Given the description of an element on the screen output the (x, y) to click on. 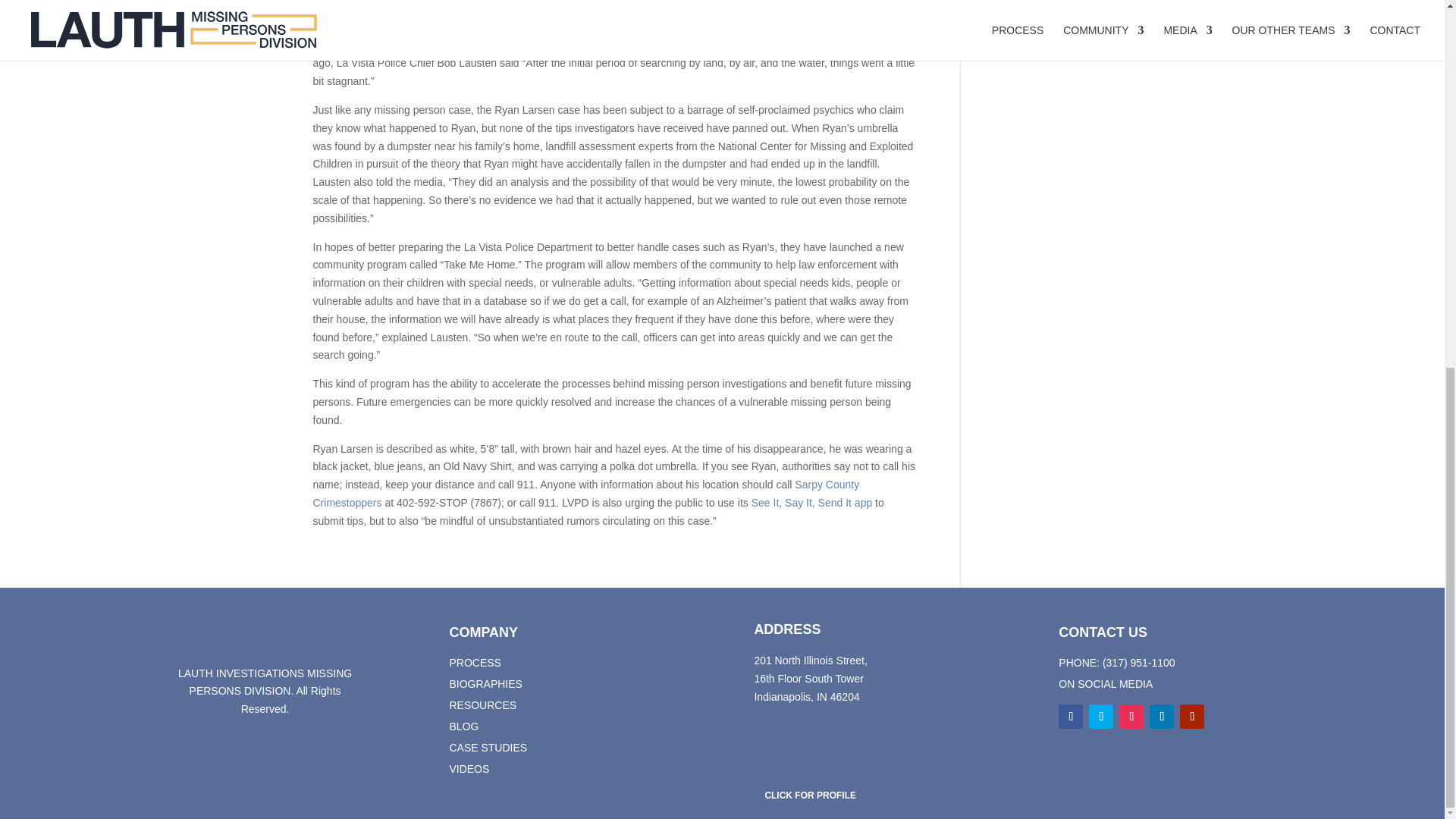
VIDEOS (468, 768)
Follow on Instagram (1130, 716)
Follow on LinkedIn (1161, 716)
CASE STUDIES (487, 747)
BLOG (463, 726)
Follow on Facebook (1070, 716)
Follow on Youtube (1191, 716)
CLICK FOR PROFILE (810, 795)
RESOURCES (482, 705)
Follow on Twitter (1101, 716)
